Given the description of an element on the screen output the (x, y) to click on. 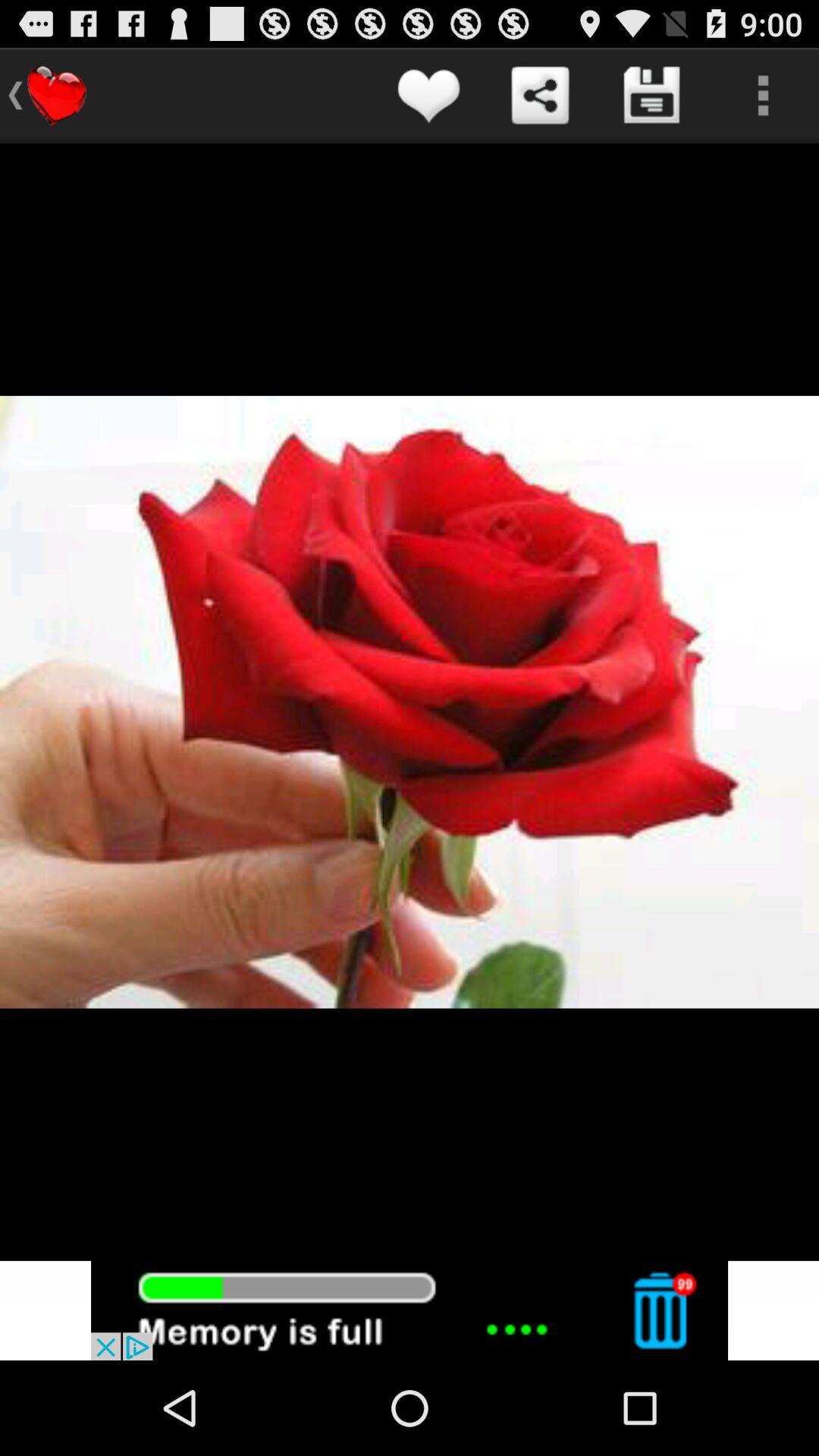
more (763, 95)
